Given the description of an element on the screen output the (x, y) to click on. 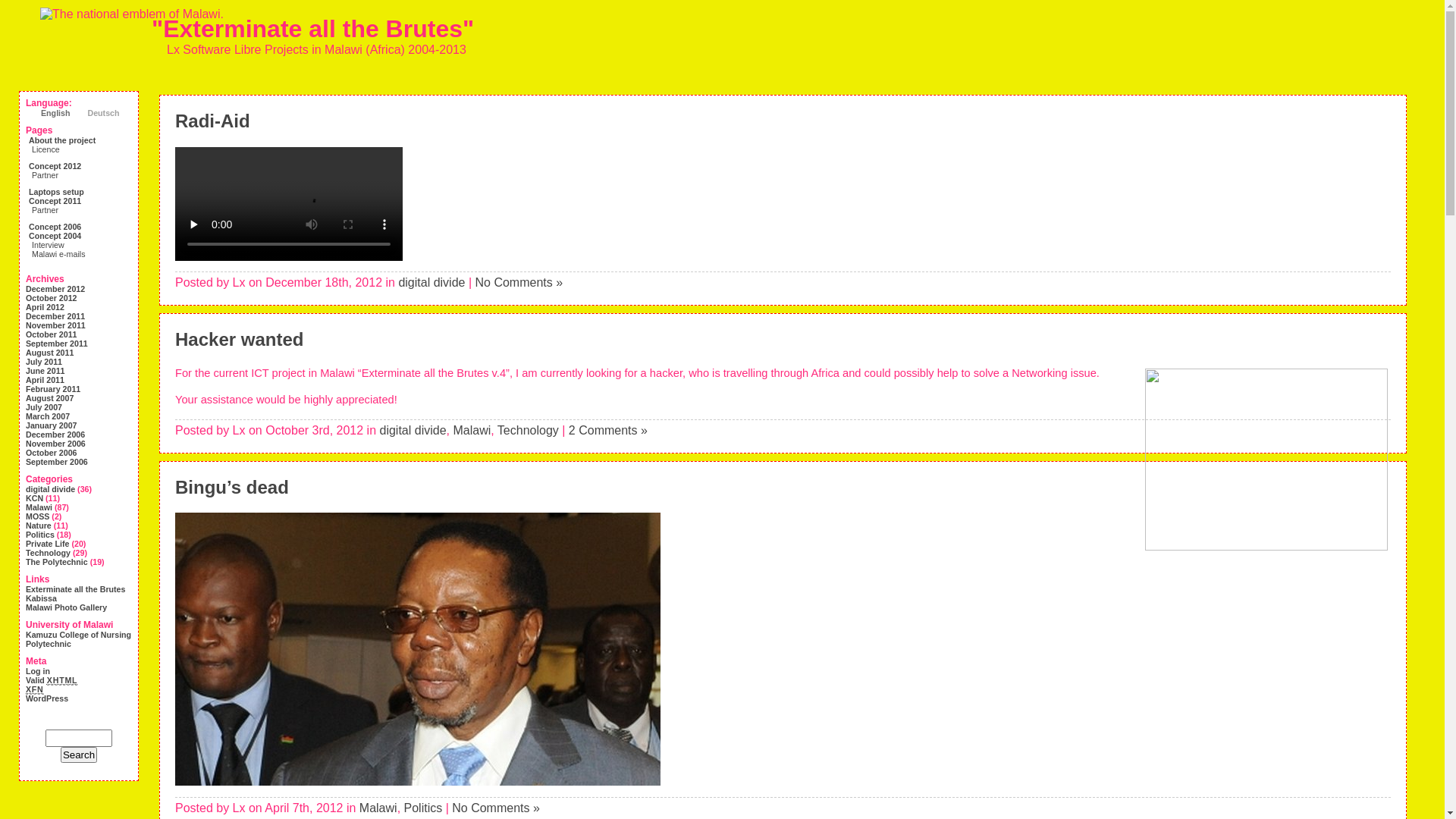
Partner Element type: text (44, 209)
July 2007 Element type: text (43, 406)
August 2007 Element type: text (49, 397)
Nature Element type: text (38, 525)
digital divide Element type: text (431, 282)
Concept 2004 Element type: text (54, 235)
MOSS Element type: text (37, 515)
digital divide Element type: text (50, 488)
April 2011 Element type: text (44, 379)
July 2011 Element type: text (43, 361)
December 2011 Element type: text (54, 315)
Kamuzu College of Nursing Element type: text (78, 634)
Log in Element type: text (37, 670)
Deutsch Element type: text (95, 112)
December 2006 Element type: text (54, 434)
October 2006 Element type: text (51, 452)
WordPress Element type: text (46, 697)
digital divide Element type: text (412, 429)
Search Element type: text (78, 754)
October 2012 Element type: text (51, 297)
Malawi Photo Gallery Element type: text (65, 606)
August 2011 Element type: text (49, 352)
Malawi Element type: text (38, 506)
October 2011 Element type: text (51, 333)
Concept 2006 Element type: text (54, 226)
Technology Element type: text (527, 429)
Politics Element type: text (423, 807)
"Exterminate all the Brutes" Element type: text (312, 28)
Concept 2012 Element type: text (54, 165)
April 2012 Element type: text (44, 306)
Valid XHTML Element type: text (51, 680)
June 2011 Element type: text (45, 370)
The Polytechnic Element type: text (56, 561)
January 2007 Element type: text (51, 424)
Hacker wanted Element type: text (239, 339)
November 2006 Element type: text (55, 443)
BBC Element type: hover (417, 781)
Malawi Element type: text (378, 807)
Technology Element type: text (47, 552)
February 2011 Element type: text (52, 388)
Licence Element type: text (45, 148)
XFN Element type: text (34, 689)
Kabissa Element type: text (40, 597)
Malawi e-mails Element type: text (57, 253)
KCN Element type: text (34, 497)
September 2006 Element type: text (56, 461)
Exterminate all the Brutes Element type: text (75, 588)
March 2007 Element type: text (47, 415)
English Element type: text (47, 112)
Terminals Malawi Element type: hover (1266, 459)
Laptops setup Element type: text (56, 191)
Malawi Element type: text (471, 429)
Partner Element type: text (44, 174)
Private Life Element type: text (47, 543)
Politics Element type: text (39, 534)
September 2011 Element type: text (56, 343)
Concept 2011 Element type: text (54, 200)
About the project Element type: text (61, 139)
Radi-Aid Element type: text (212, 120)
Interview Element type: text (47, 244)
December 2012 Element type: text (54, 288)
November 2011 Element type: text (55, 324)
Polytechnic Element type: text (48, 643)
